Given the description of an element on the screen output the (x, y) to click on. 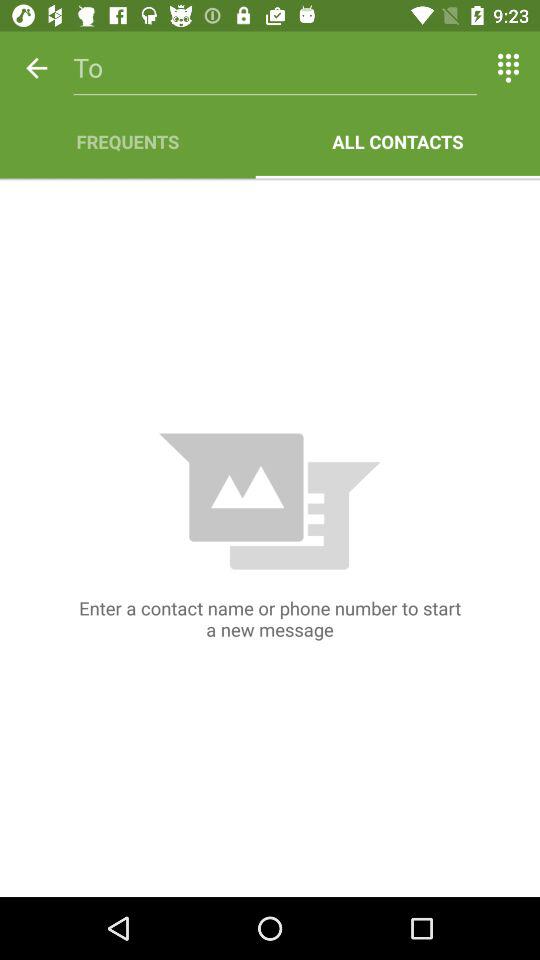
launch all contacts icon (397, 141)
